Given the description of an element on the screen output the (x, y) to click on. 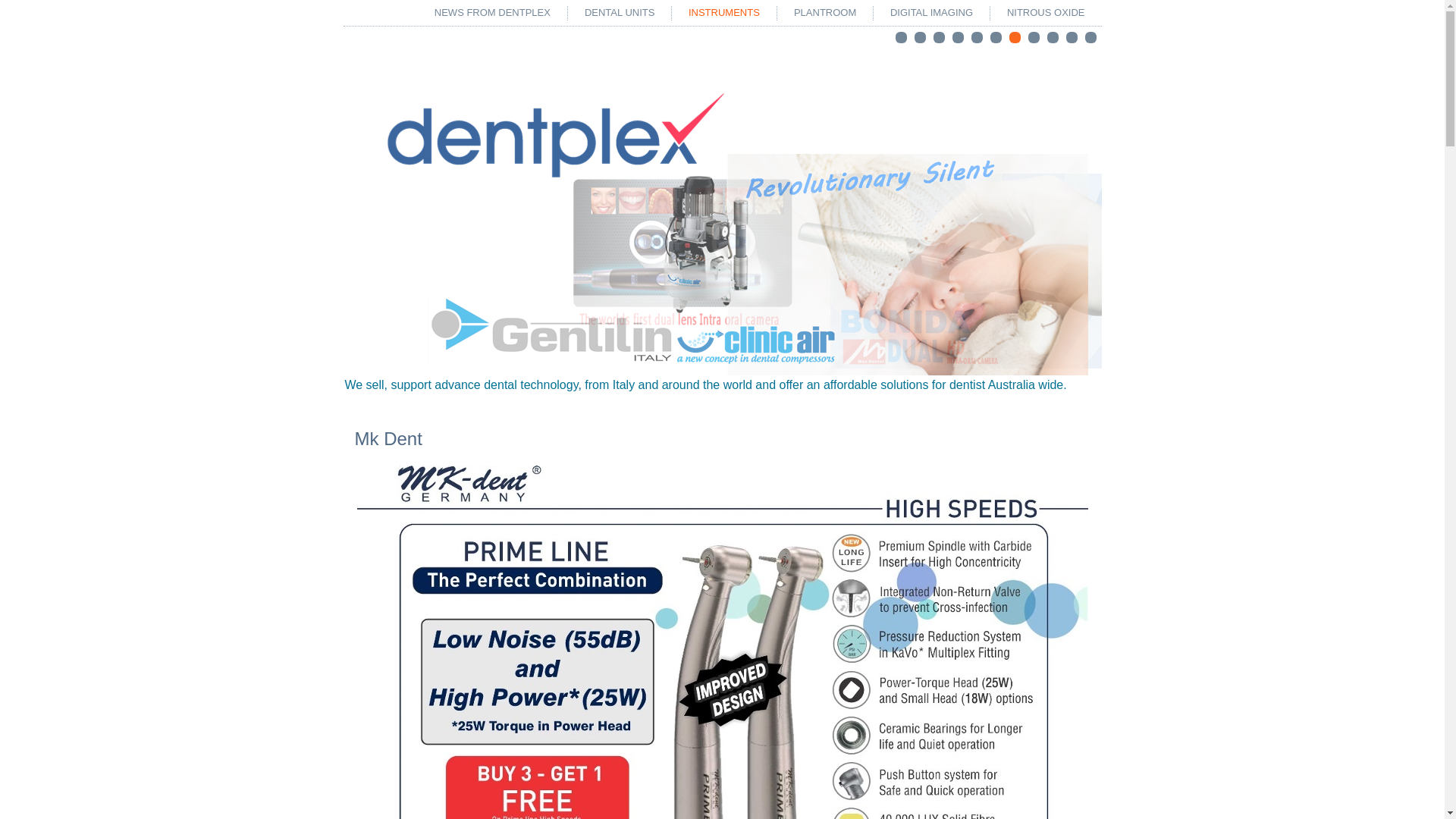
PLANTROOM Element type: text (825, 12)
DIGITAL IMAGING Element type: text (931, 12)
DENTAL UNITS Element type: text (619, 12)
NITROUS OXIDE Element type: text (1046, 12)
NEWS FROM DENTPLEX Element type: text (492, 12)
INSTRUMENTS Element type: text (723, 12)
